Given the description of an element on the screen output the (x, y) to click on. 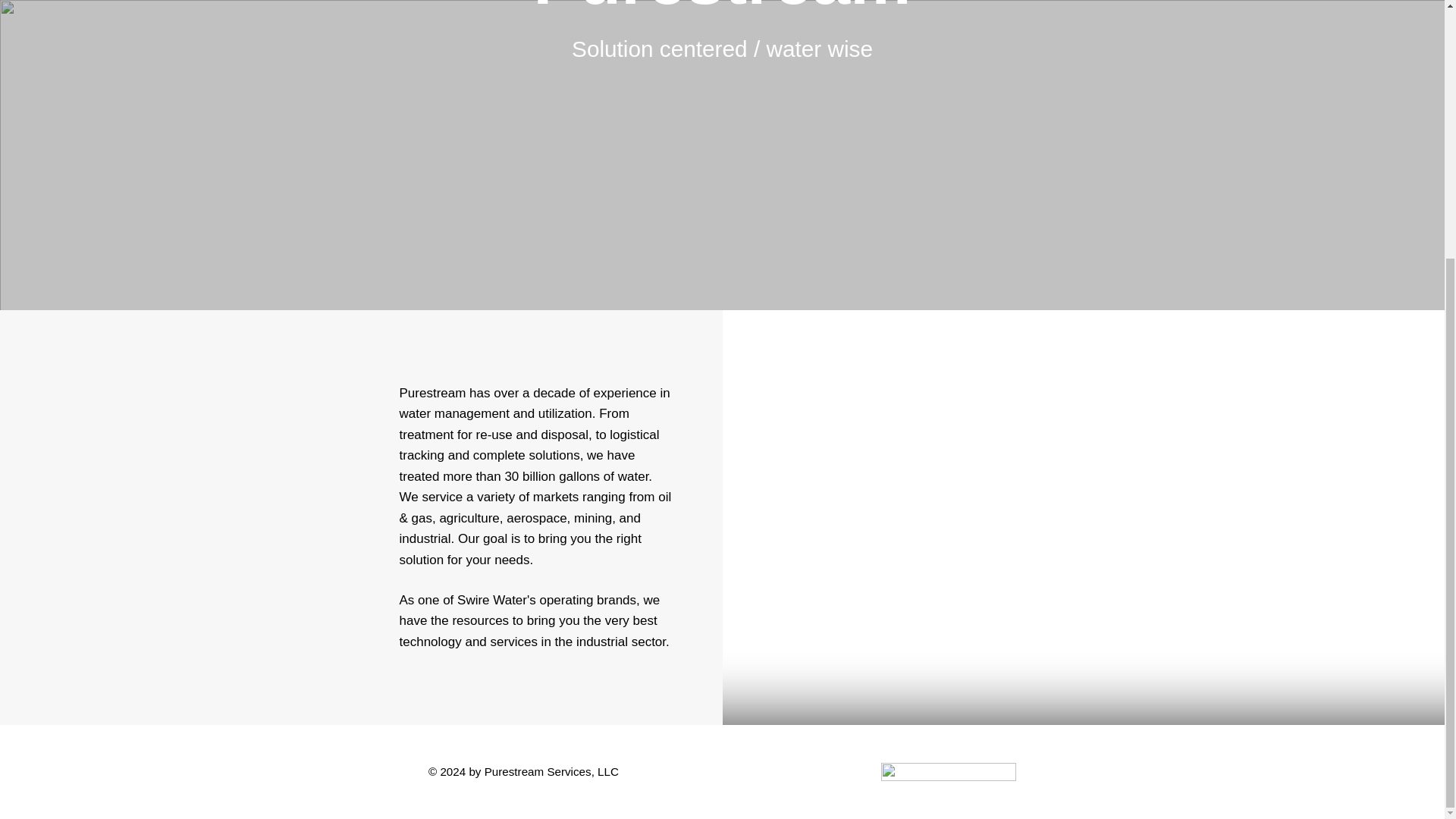
Visit Swire Water homepage, opens in a new window (948, 771)
